Given the description of an element on the screen output the (x, y) to click on. 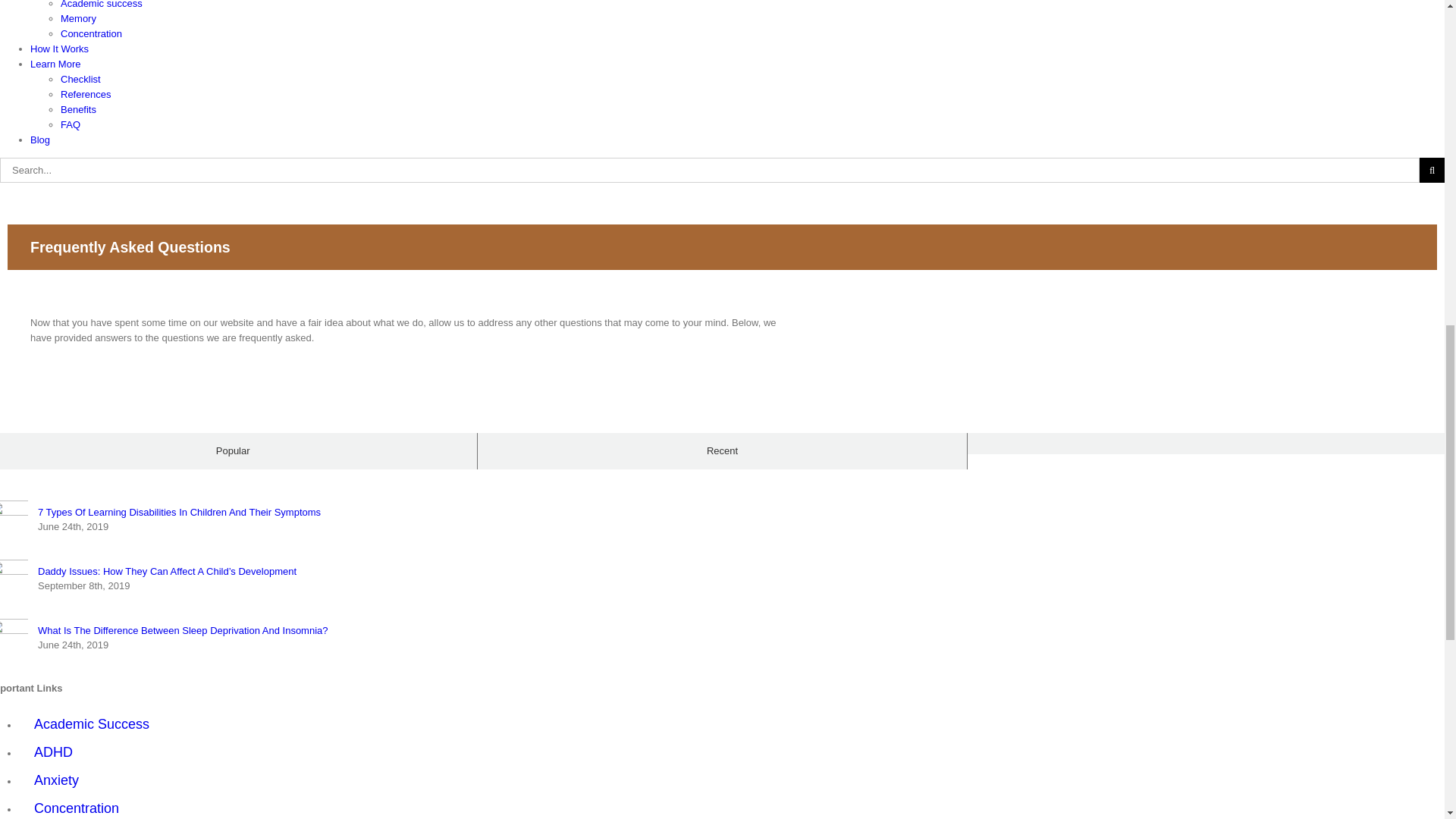
Frequently Asked Questions (722, 247)
